Given the description of an element on the screen output the (x, y) to click on. 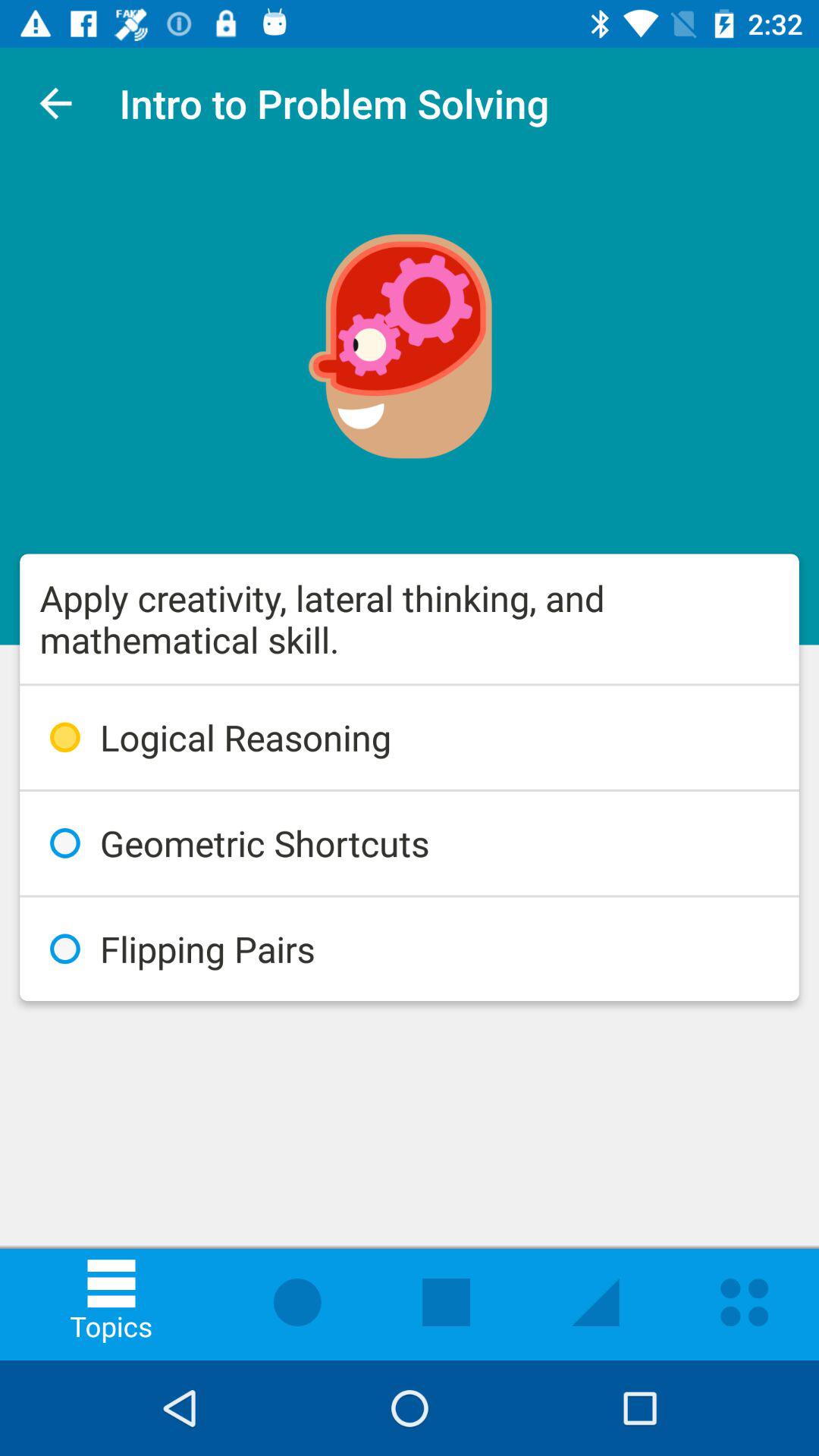
choose logical reasoning (409, 737)
